Given the description of an element on the screen output the (x, y) to click on. 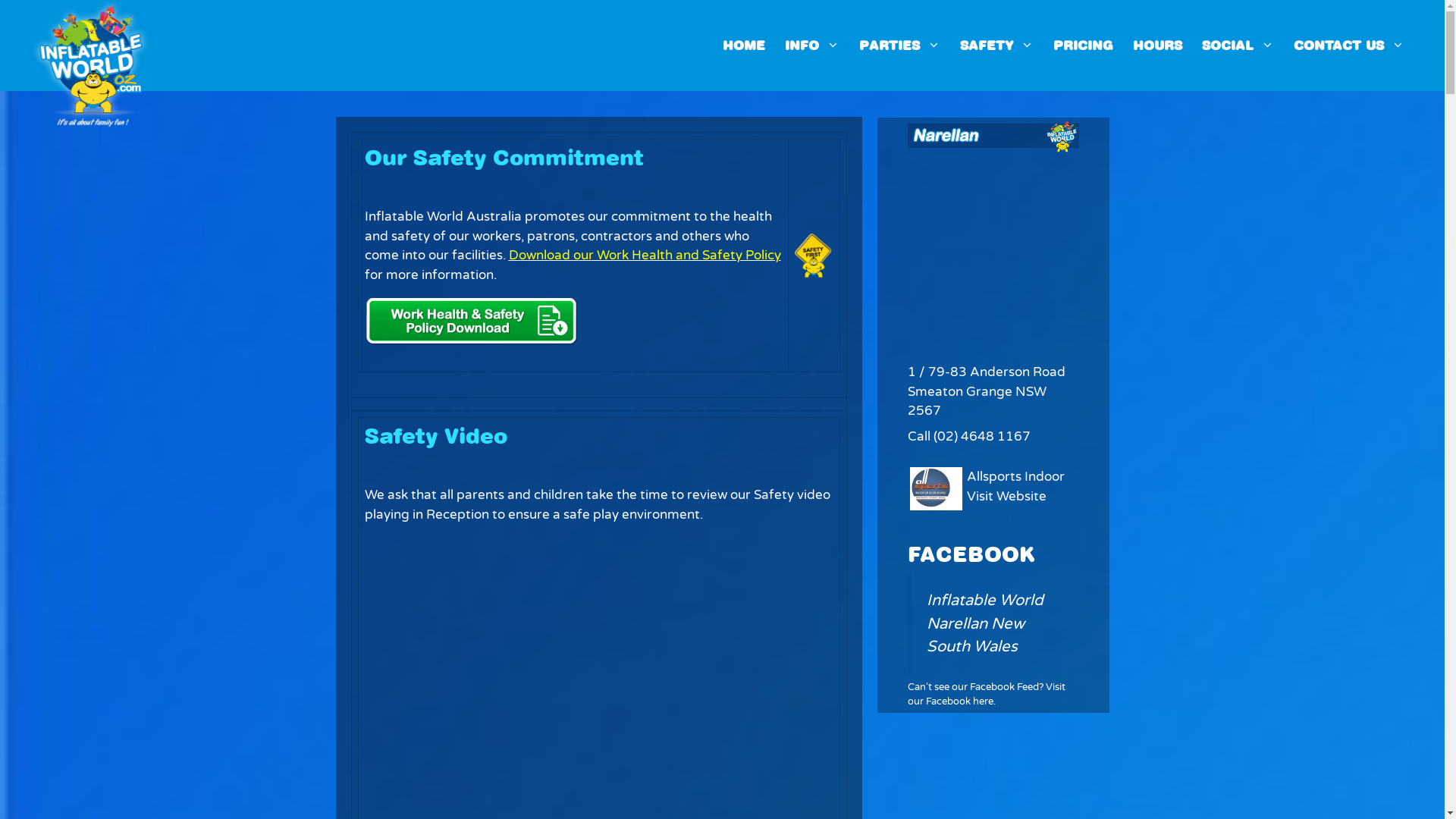
SOCIAL Element type: text (1237, 45)
PARTIES Element type: text (899, 45)
HOURS Element type: text (1157, 45)
PRICING Element type: text (1083, 45)
INFO Element type: text (812, 45)
Narellan Element type: hover (90, 44)
Download our Work Health and Safety Policy Element type: text (644, 255)
Narellan Element type: hover (90, 63)
Can't see our Facebook Feed? Visit our Facebook here. Element type: text (985, 694)
SAFETY Element type: text (996, 45)
Inflatable World Narellan New South Wales Element type: text (984, 622)
Visit Website Element type: text (1006, 496)
Call (02) 4648 1167 Element type: text (967, 436)
HOME Element type: text (743, 45)
CONTACT US Element type: text (1348, 45)
